Given the description of an element on the screen output the (x, y) to click on. 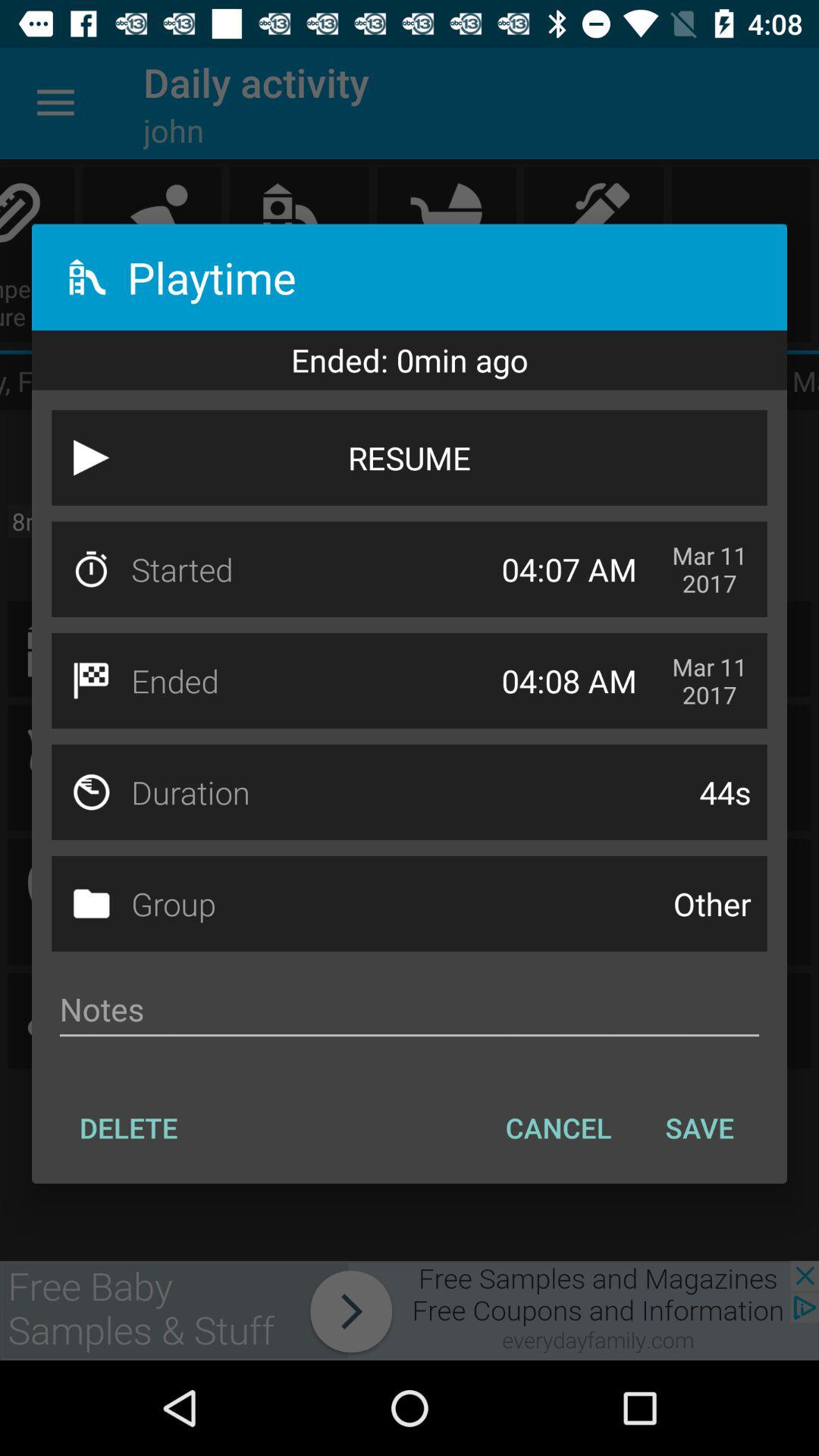
choose icon next to the cancel (128, 1127)
